Given the description of an element on the screen output the (x, y) to click on. 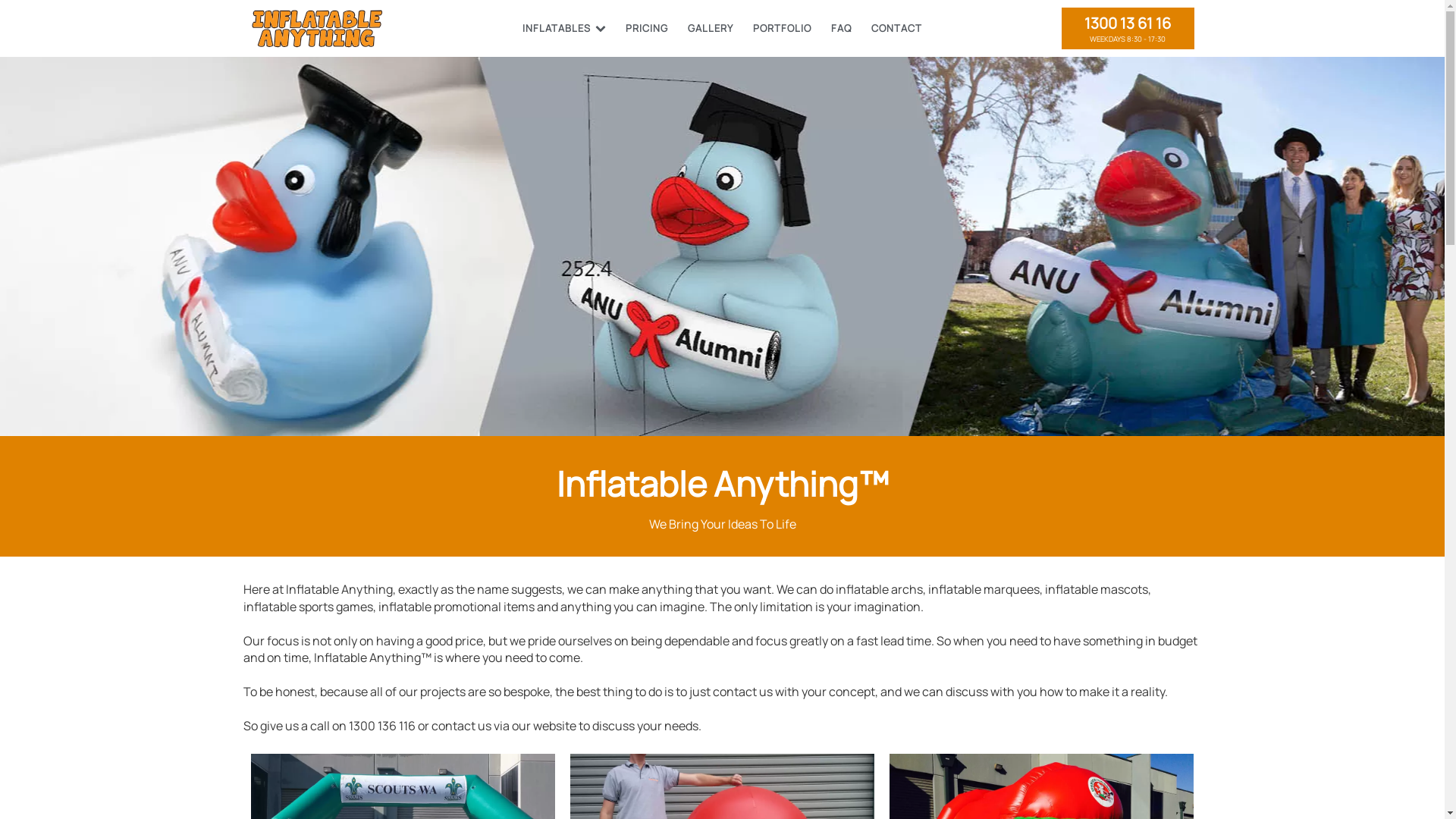
INFLATABLES Element type: text (563, 28)
GALLERY Element type: text (710, 28)
PRICING Element type: text (646, 28)
FAQ Element type: text (841, 28)
CONTACT Element type: text (896, 28)
PORTFOLIO Element type: text (782, 28)
